Given the description of an element on the screen output the (x, y) to click on. 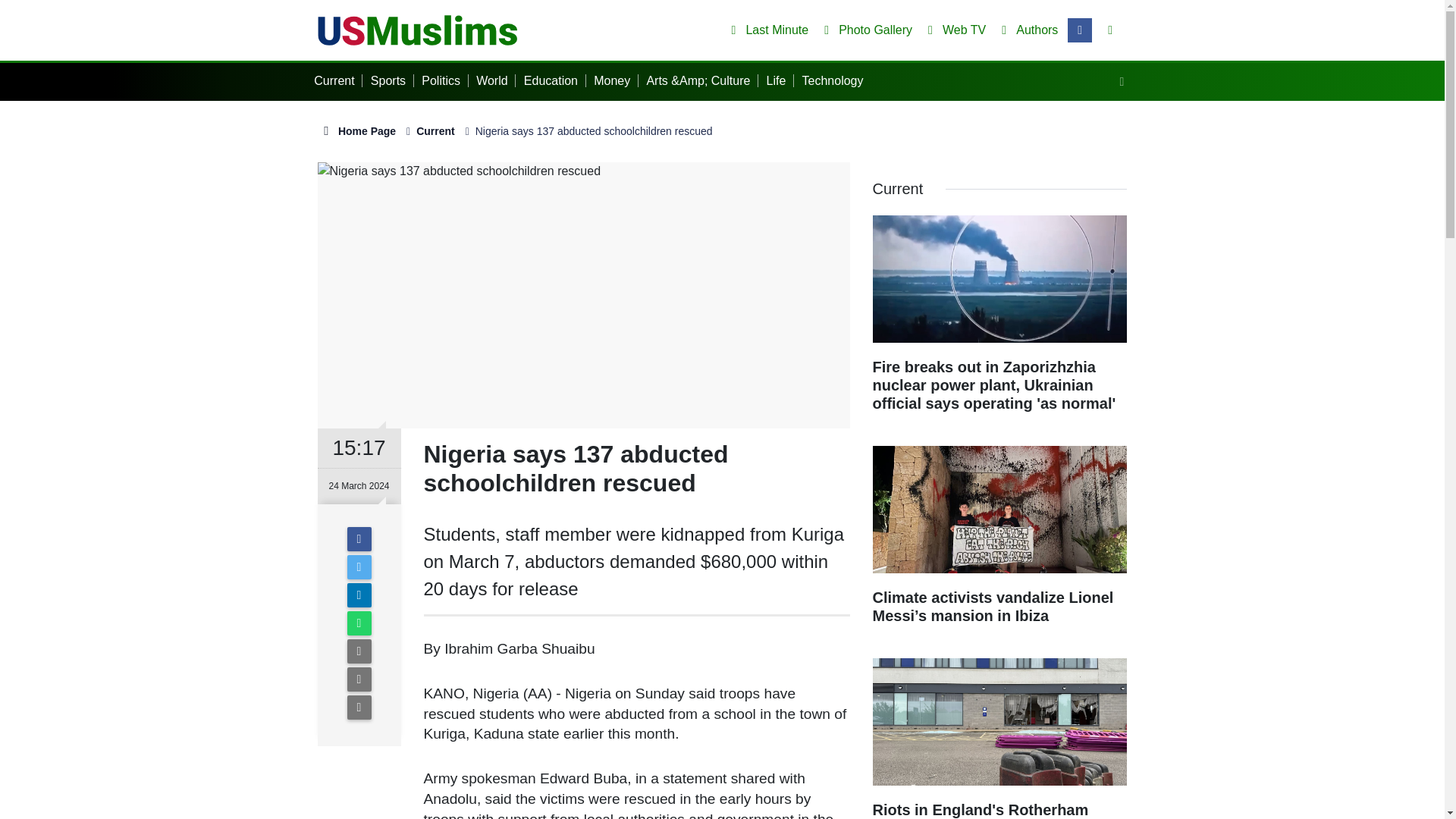
Current (338, 80)
Last Minute (766, 29)
World (495, 80)
Current (435, 131)
Twitter (359, 567)
LinkedIn (359, 595)
To Comment (359, 707)
Facebook (359, 539)
